Given the description of an element on the screen output the (x, y) to click on. 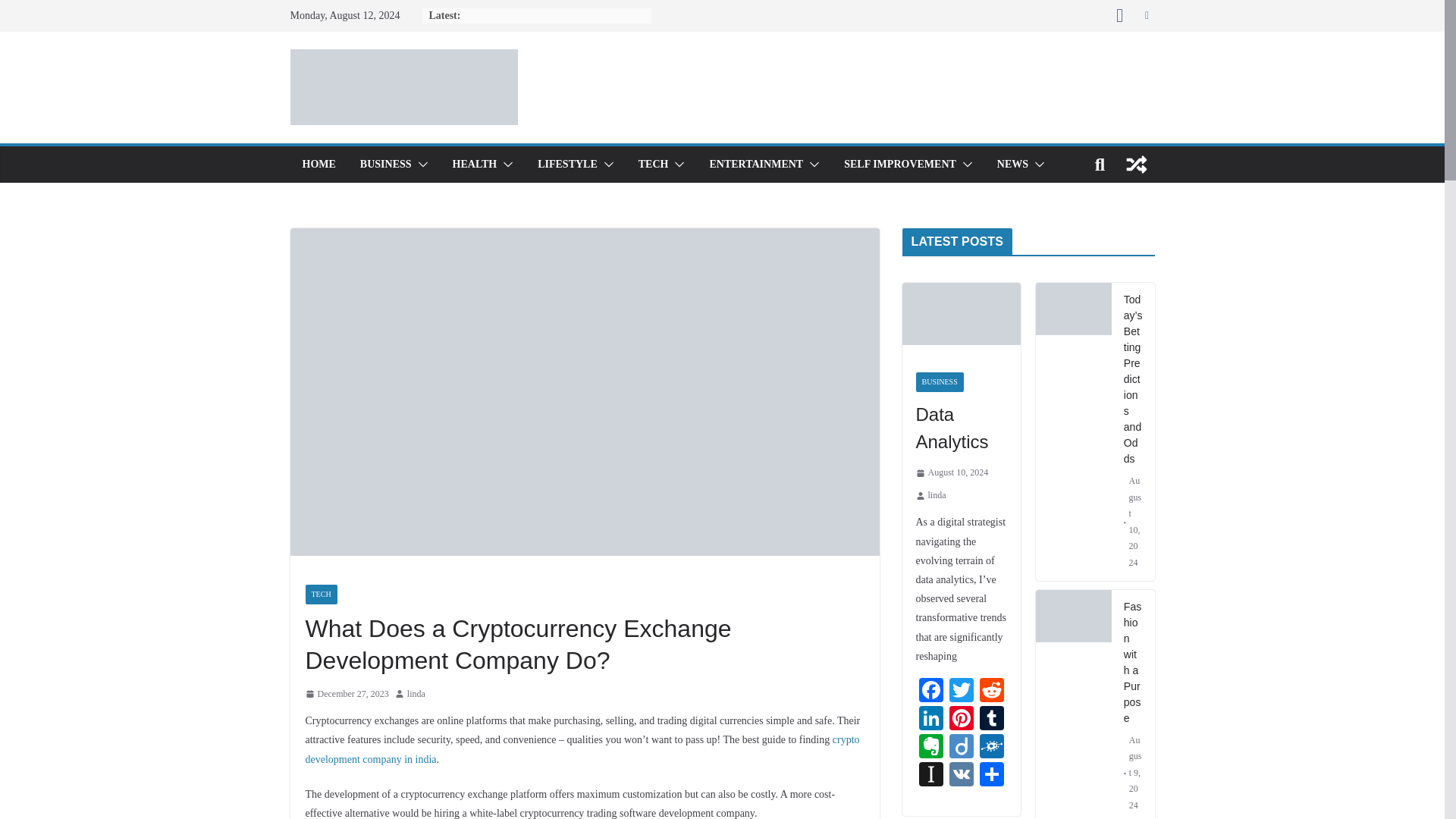
linda (416, 694)
HOME (317, 164)
BUSINESS (385, 164)
ENTERTAINMENT (756, 164)
HEALTH (474, 164)
4:19 pm (346, 694)
TECH (653, 164)
View a random post (1136, 164)
LIFESTYLE (566, 164)
